Given the description of an element on the screen output the (x, y) to click on. 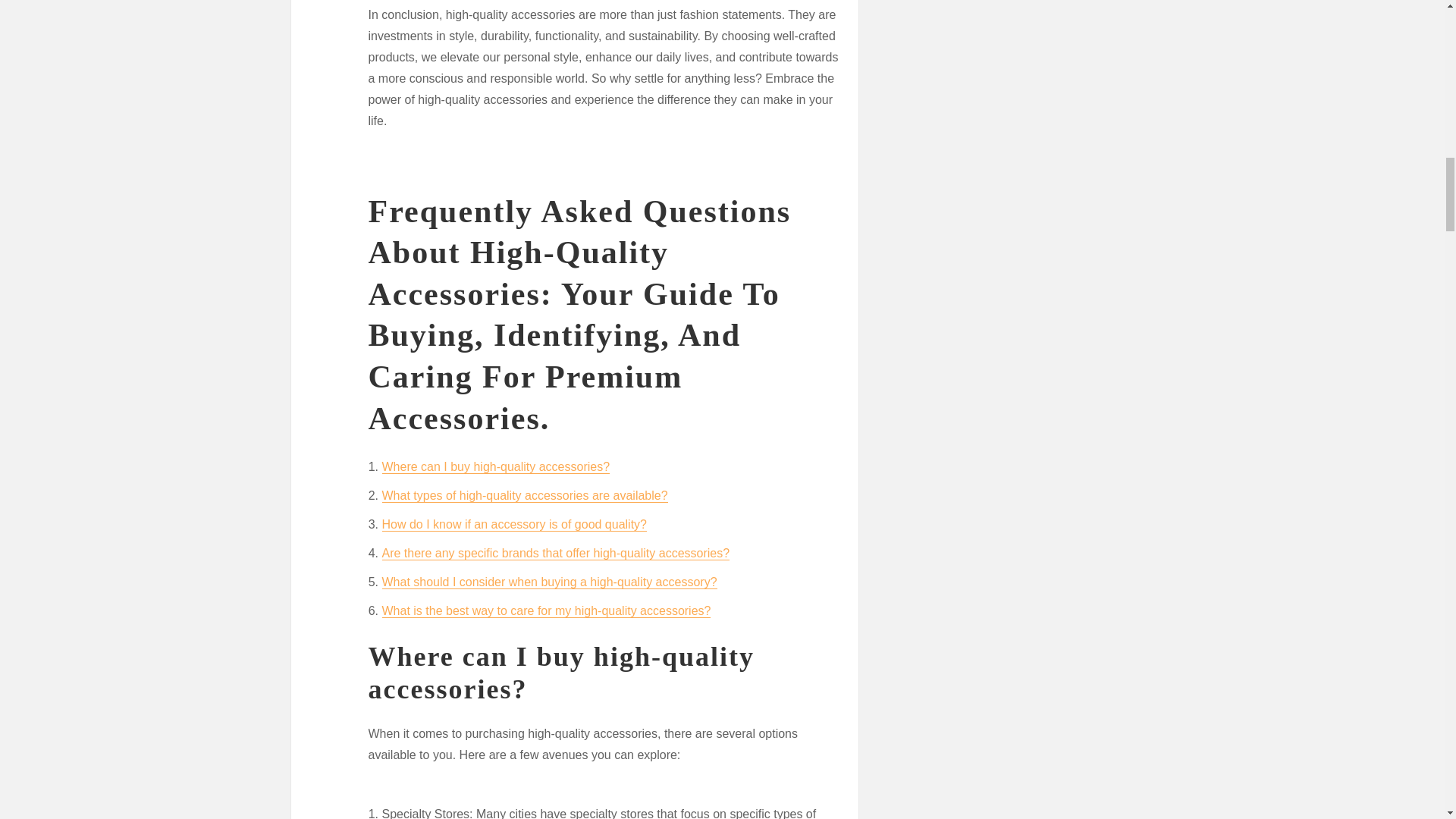
What types of high-quality accessories are available? (524, 495)
How do I know if an accessory is of good quality? (514, 523)
Where can I buy high-quality accessories? (495, 466)
What should I consider when buying a high-quality accessory? (549, 581)
